Given the description of an element on the screen output the (x, y) to click on. 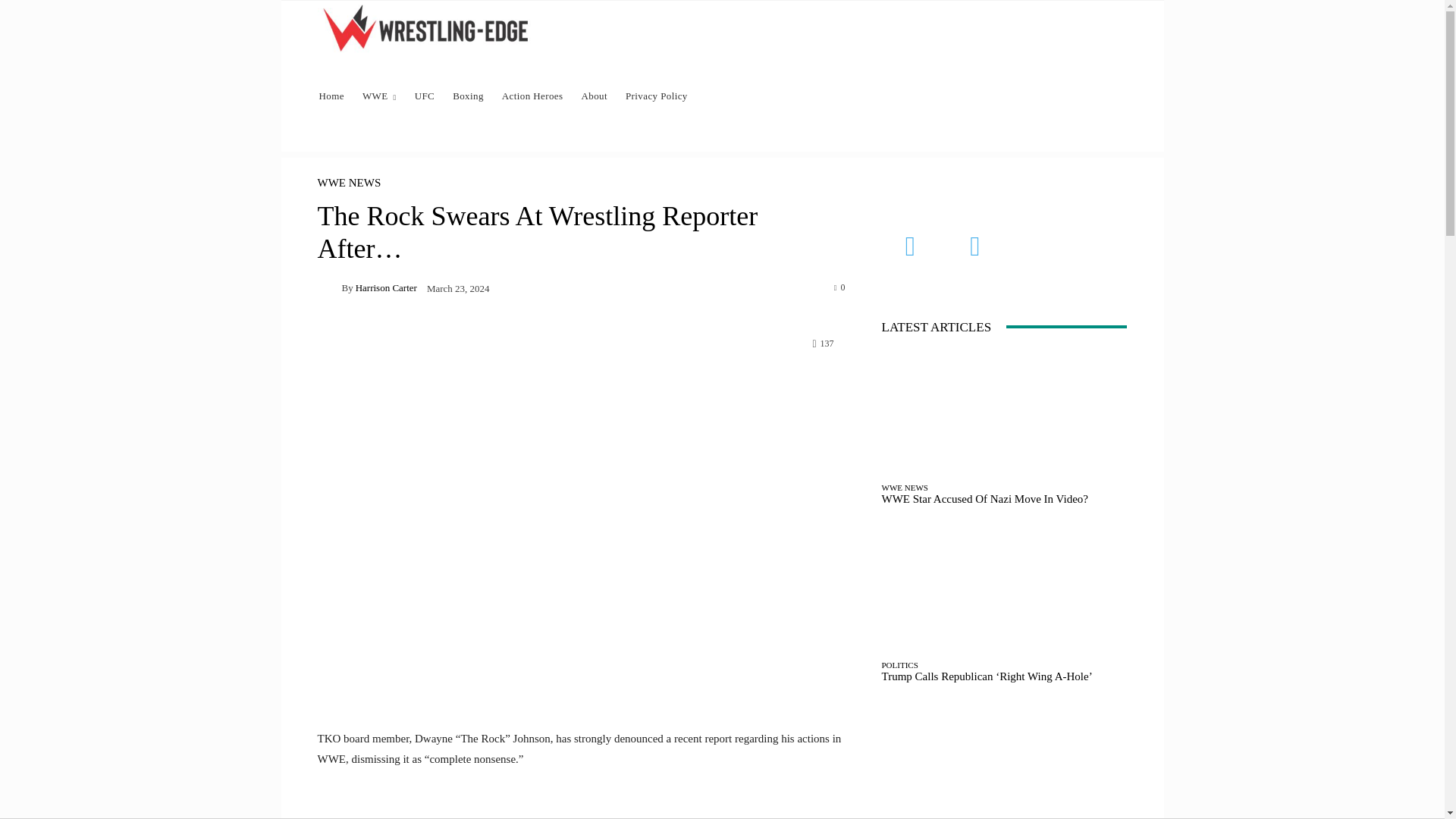
About (593, 95)
Facebook (909, 246)
Privacy Policy (656, 95)
WWE NEWS (348, 183)
UFC (425, 95)
Home (330, 95)
WWE Star Accused Of Nazi Move In Video? (1003, 413)
WWE Star Accused Of Nazi Move In Video? (983, 499)
Boxing (468, 95)
Harrison Carter (328, 287)
